Given the description of an element on the screen output the (x, y) to click on. 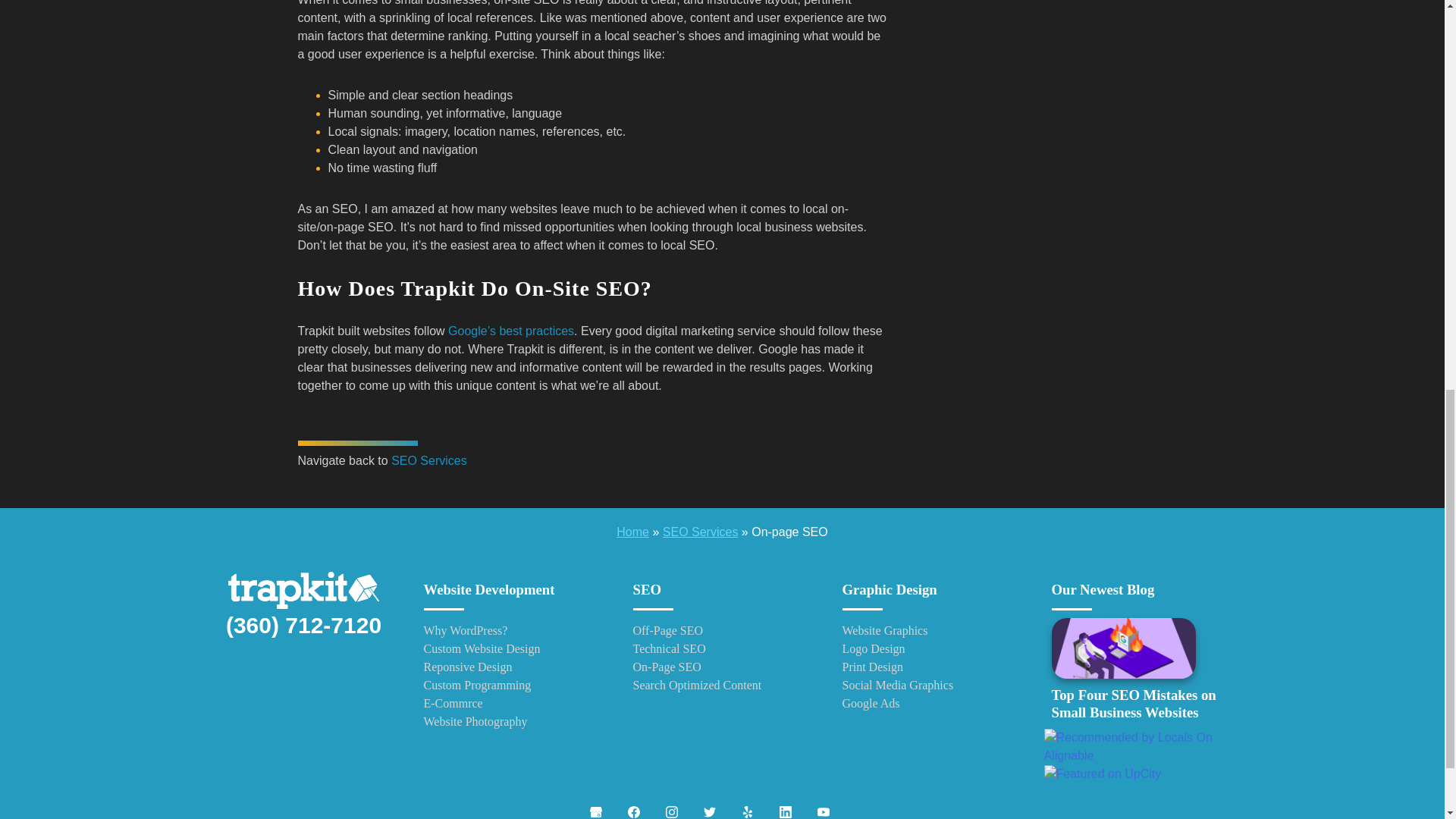
Off-Page SEO (720, 630)
Reponsive Design (512, 667)
SEO Services (429, 460)
Custom Programming (512, 685)
SEO Services (700, 531)
Technical SEO (720, 648)
On-Page SEO (720, 667)
E-Commrce (512, 703)
Custom Website Design (512, 648)
Why WordPress? (512, 630)
Search Optimized Content (720, 685)
Website Photography (512, 721)
Print Design (930, 667)
Recommended by Locals On Alignable (1140, 746)
Website Graphics (930, 630)
